Given the description of an element on the screen output the (x, y) to click on. 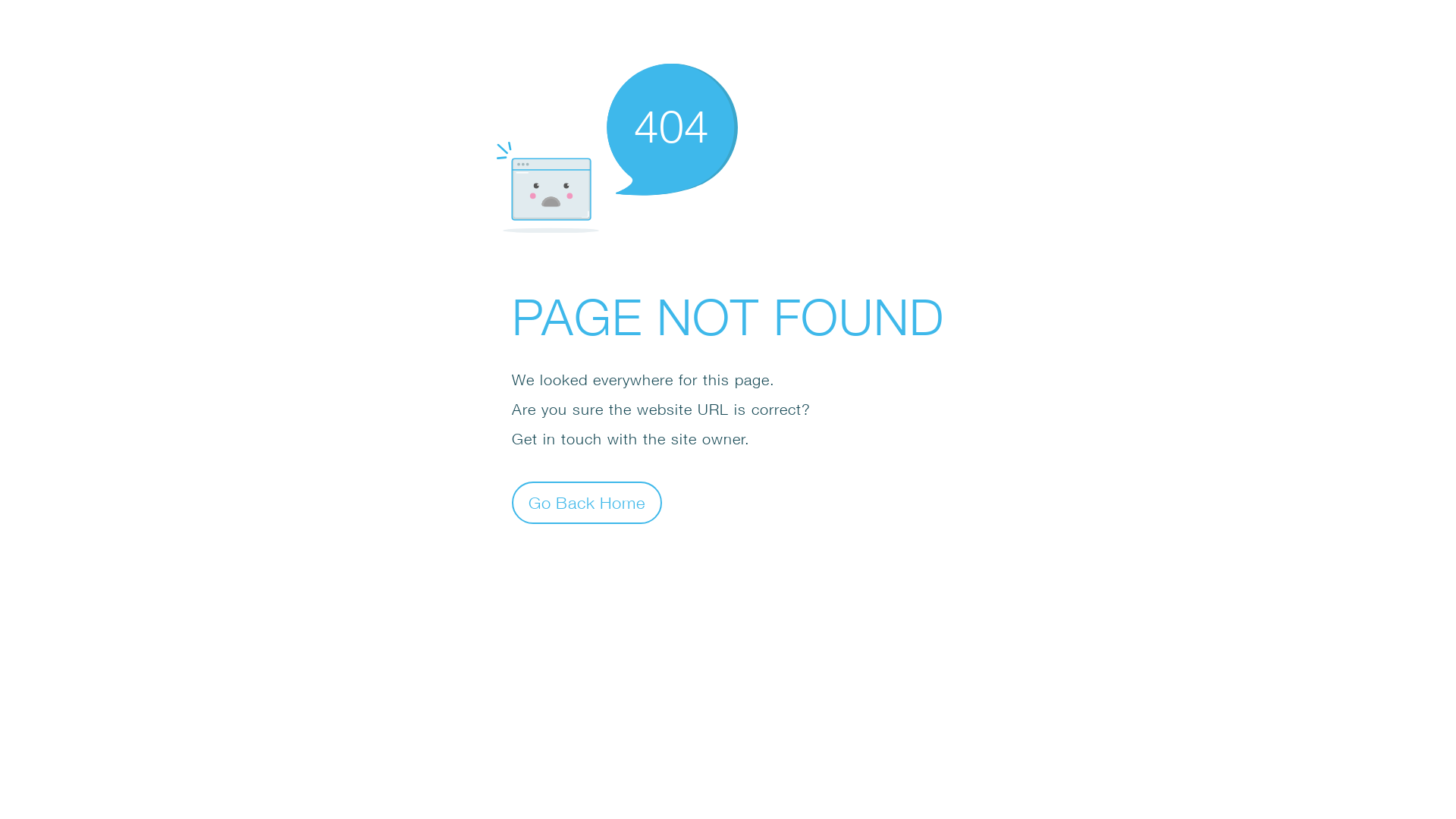
Go Back Home Element type: text (586, 502)
